Given the description of an element on the screen output the (x, y) to click on. 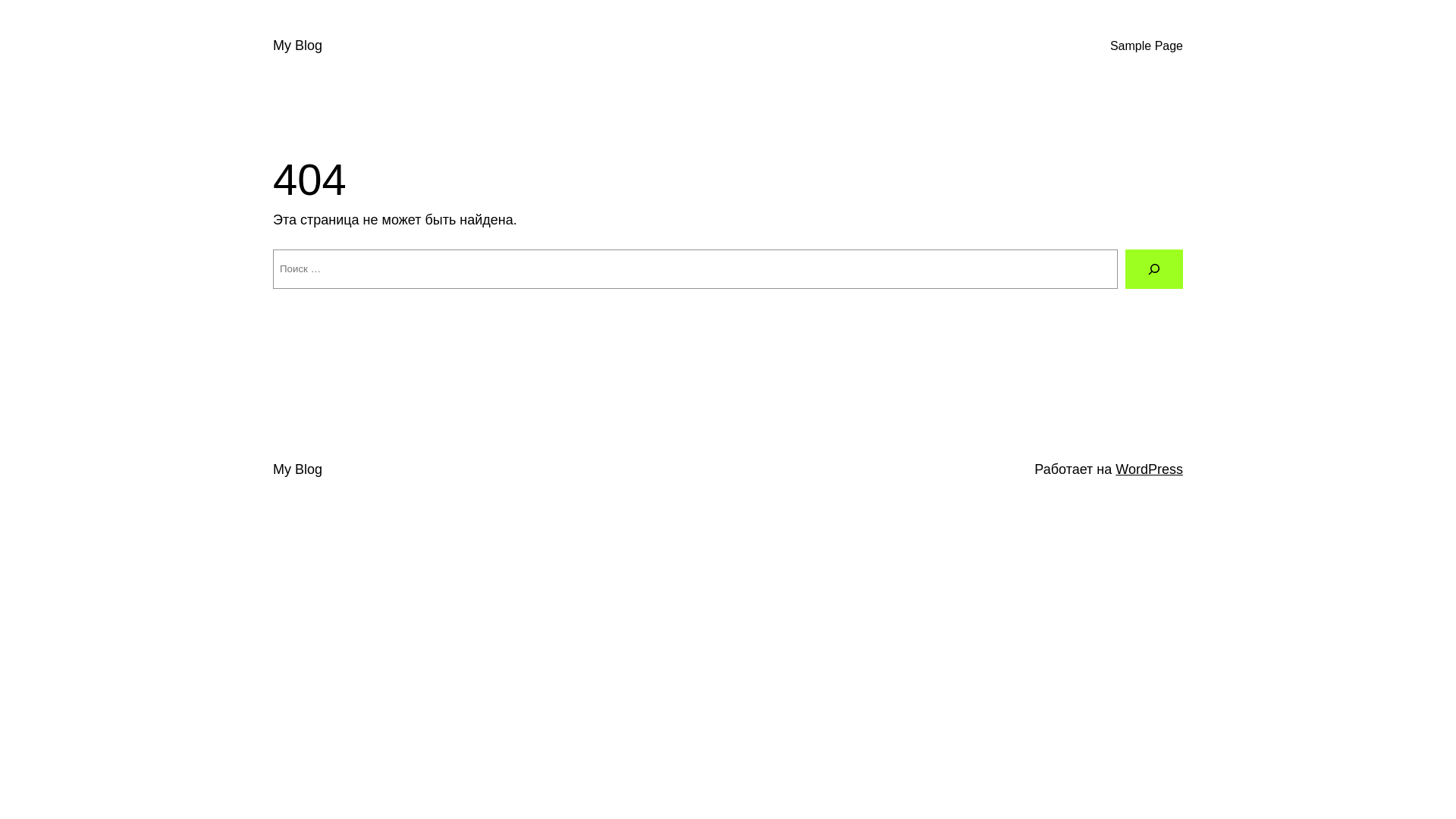
My Blog Element type: text (297, 45)
Sample Page Element type: text (1146, 46)
WordPress Element type: text (1149, 468)
My Blog Element type: text (297, 468)
